Given the description of an element on the screen output the (x, y) to click on. 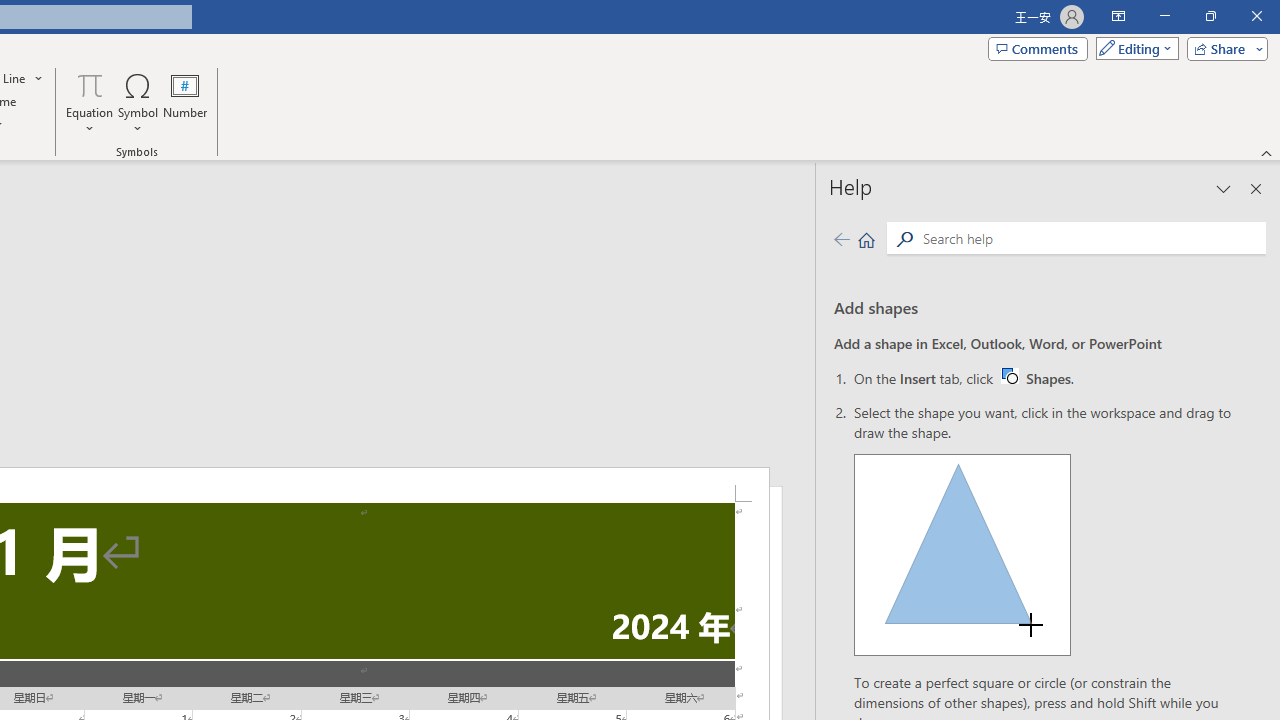
Word W32 Shapes button icon (1009, 375)
